Given the description of an element on the screen output the (x, y) to click on. 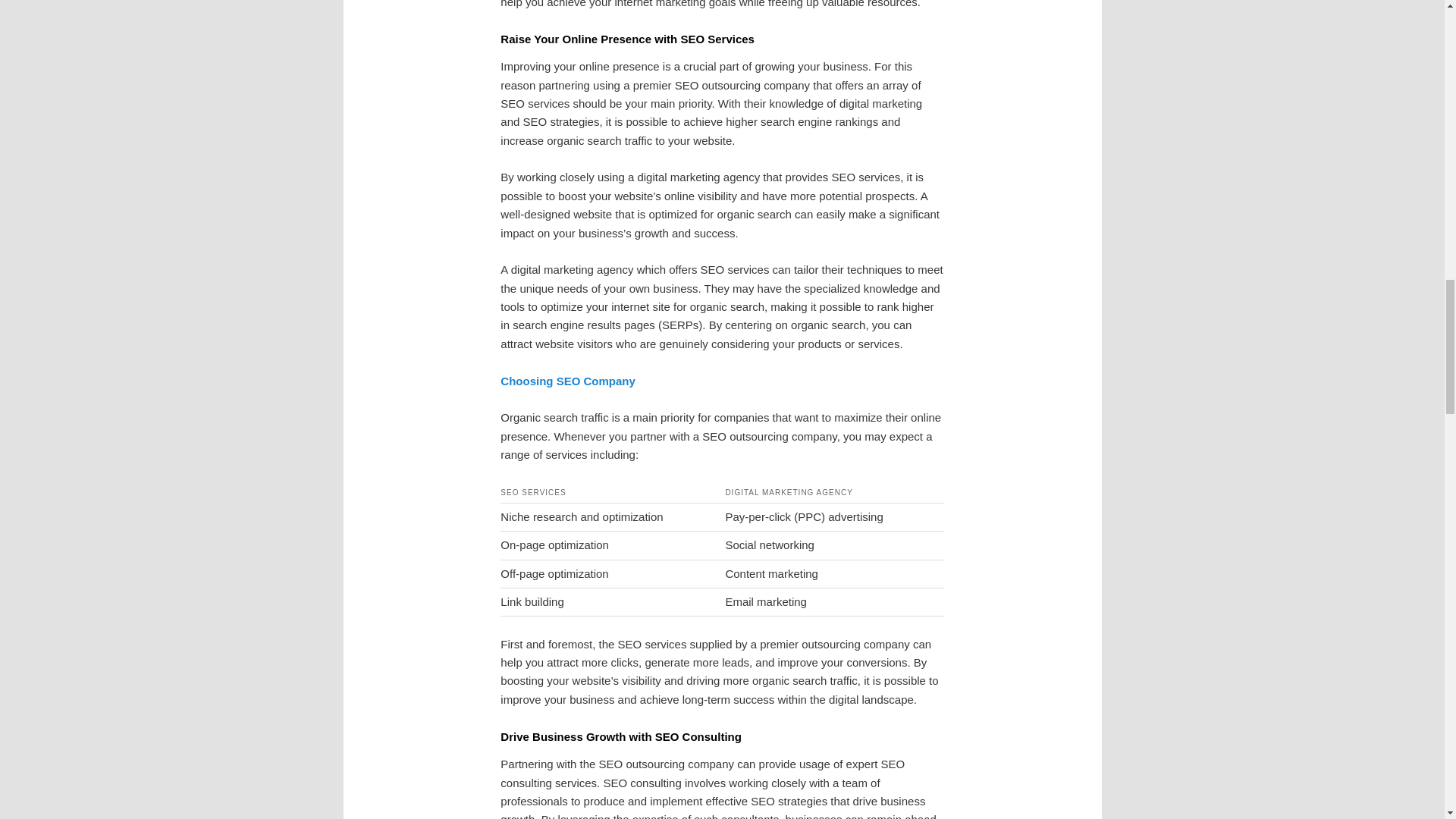
Choosing SEO Company (567, 380)
